Given the description of an element on the screen output the (x, y) to click on. 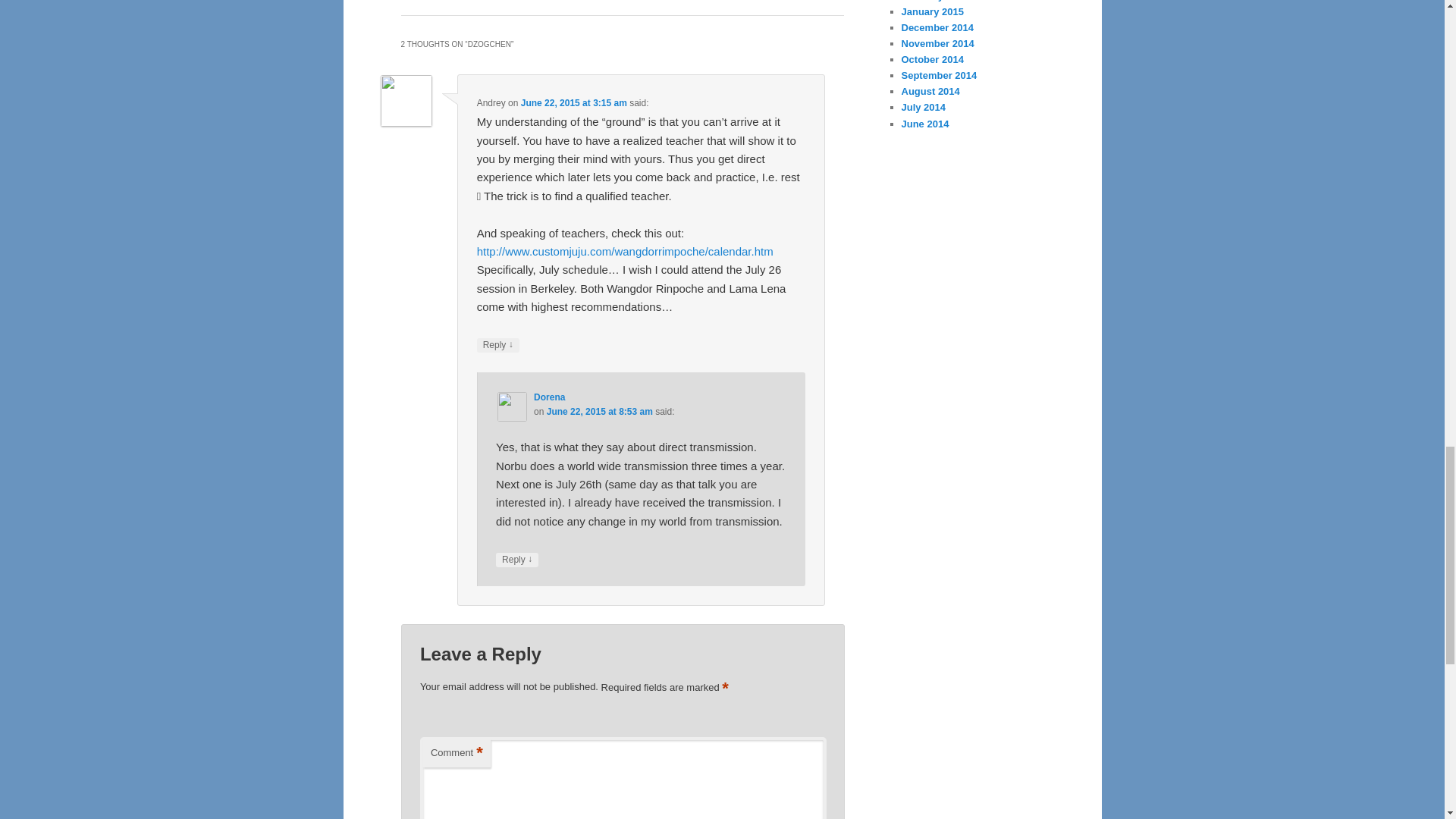
June 22, 2015 at 3:15 am (574, 102)
Dorena (549, 397)
June 22, 2015 at 8:53 am (599, 411)
